Given the description of an element on the screen output the (x, y) to click on. 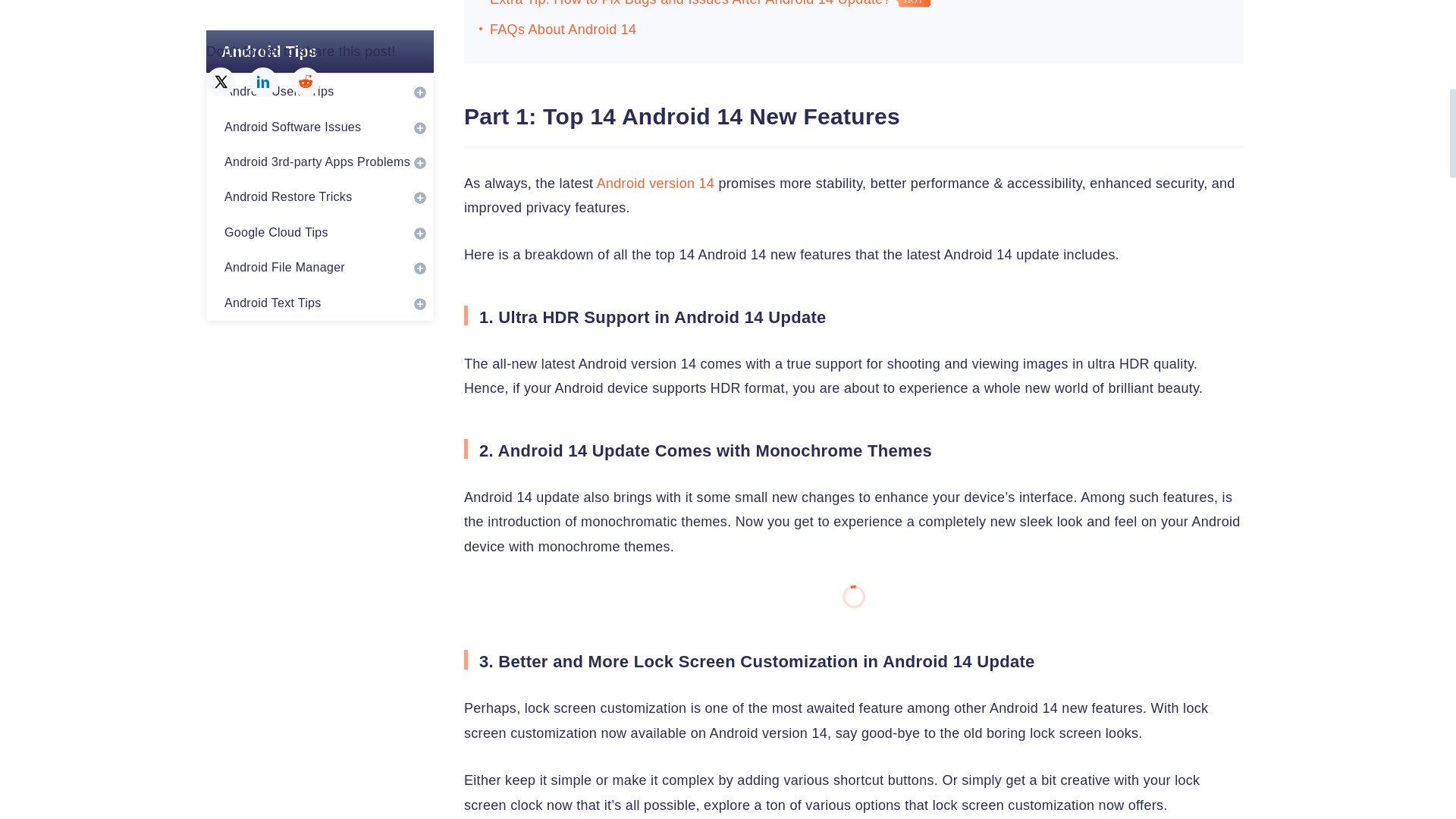
HOT (912, 3)
